Given the description of an element on the screen output the (x, y) to click on. 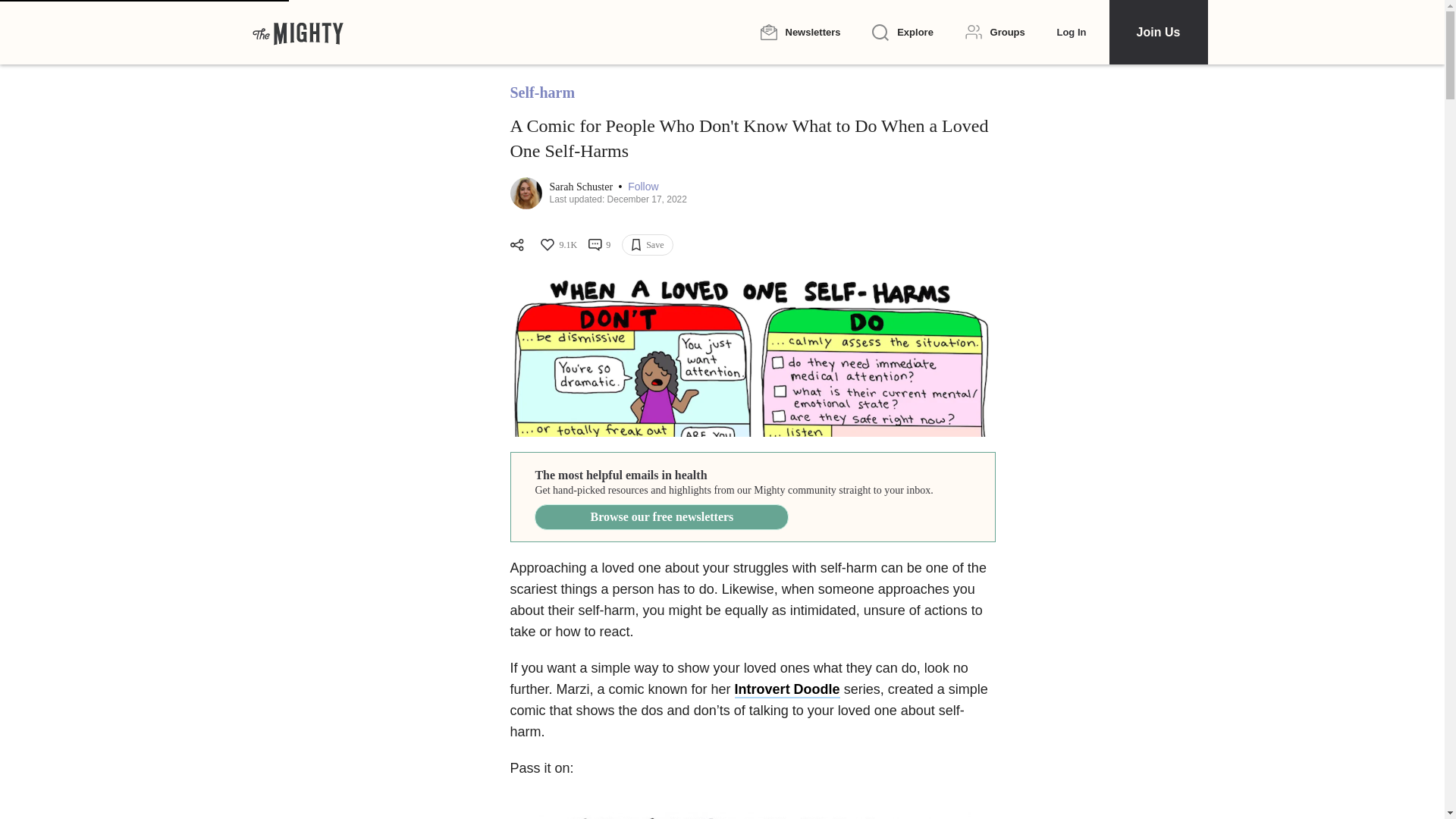
Follow (642, 186)
Explore (902, 32)
Newsletters (800, 31)
Introvert Doodle (787, 689)
Save (646, 244)
Join Us (1157, 32)
Sarah Schuster (581, 186)
9 (599, 244)
Introvert Doodles Comic About Self-Harm for Loved Ones (751, 355)
Browse our free newsletters (661, 516)
